Given the description of an element on the screen output the (x, y) to click on. 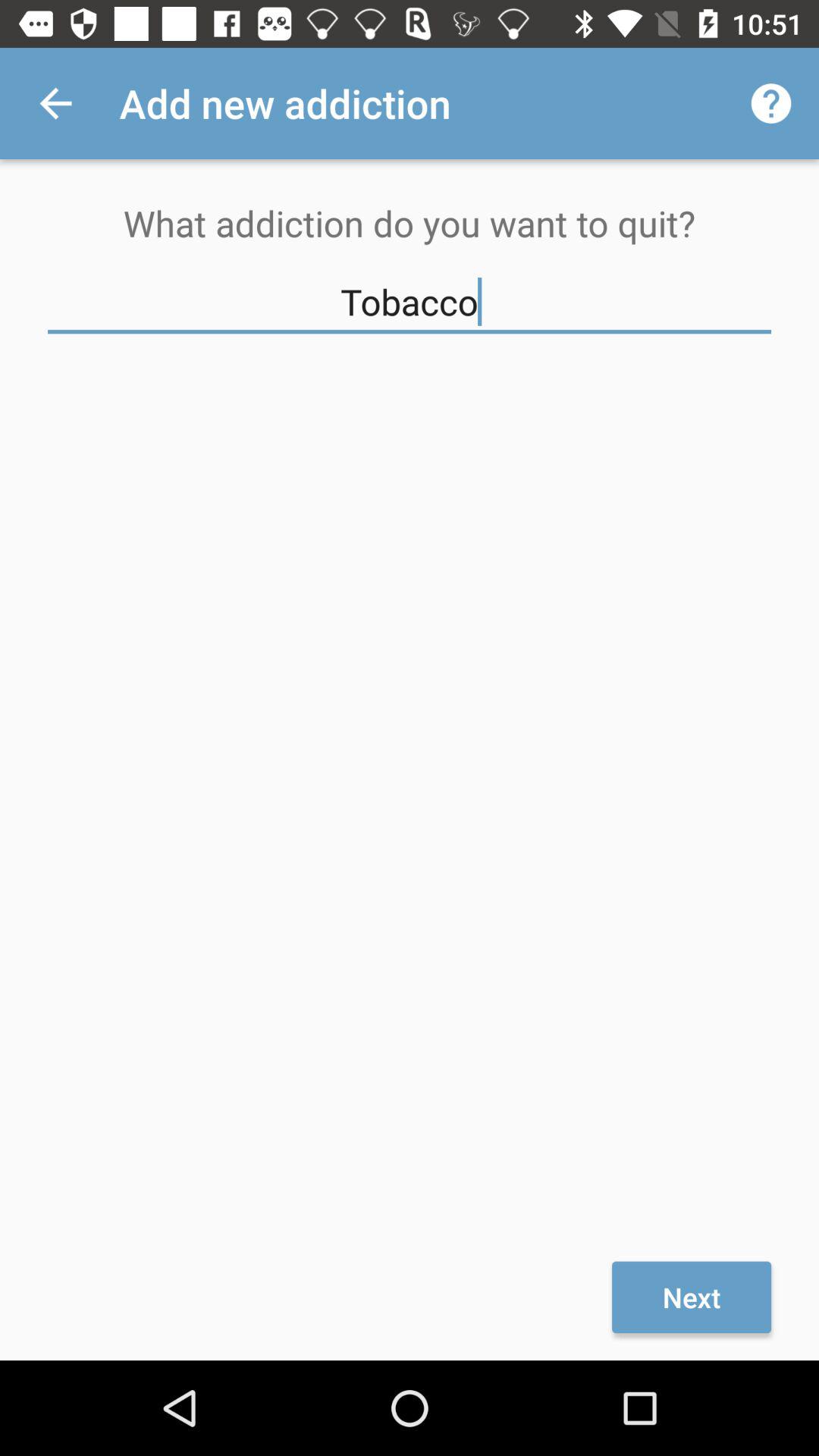
turn on icon below the what addiction do icon (409, 302)
